Given the description of an element on the screen output the (x, y) to click on. 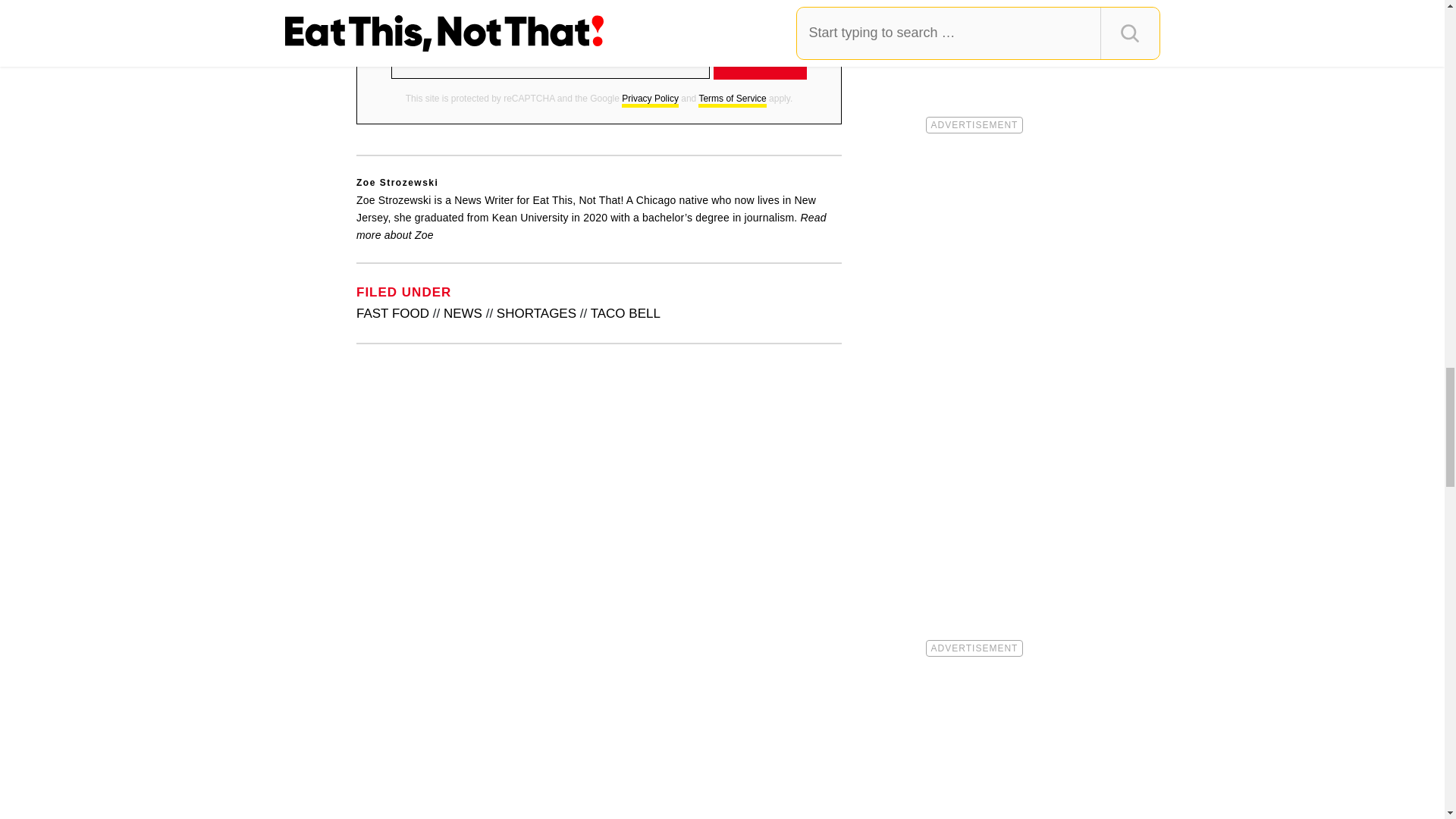
Eat This Not That (599, 2)
Sign Up (760, 61)
